Given the description of an element on the screen output the (x, y) to click on. 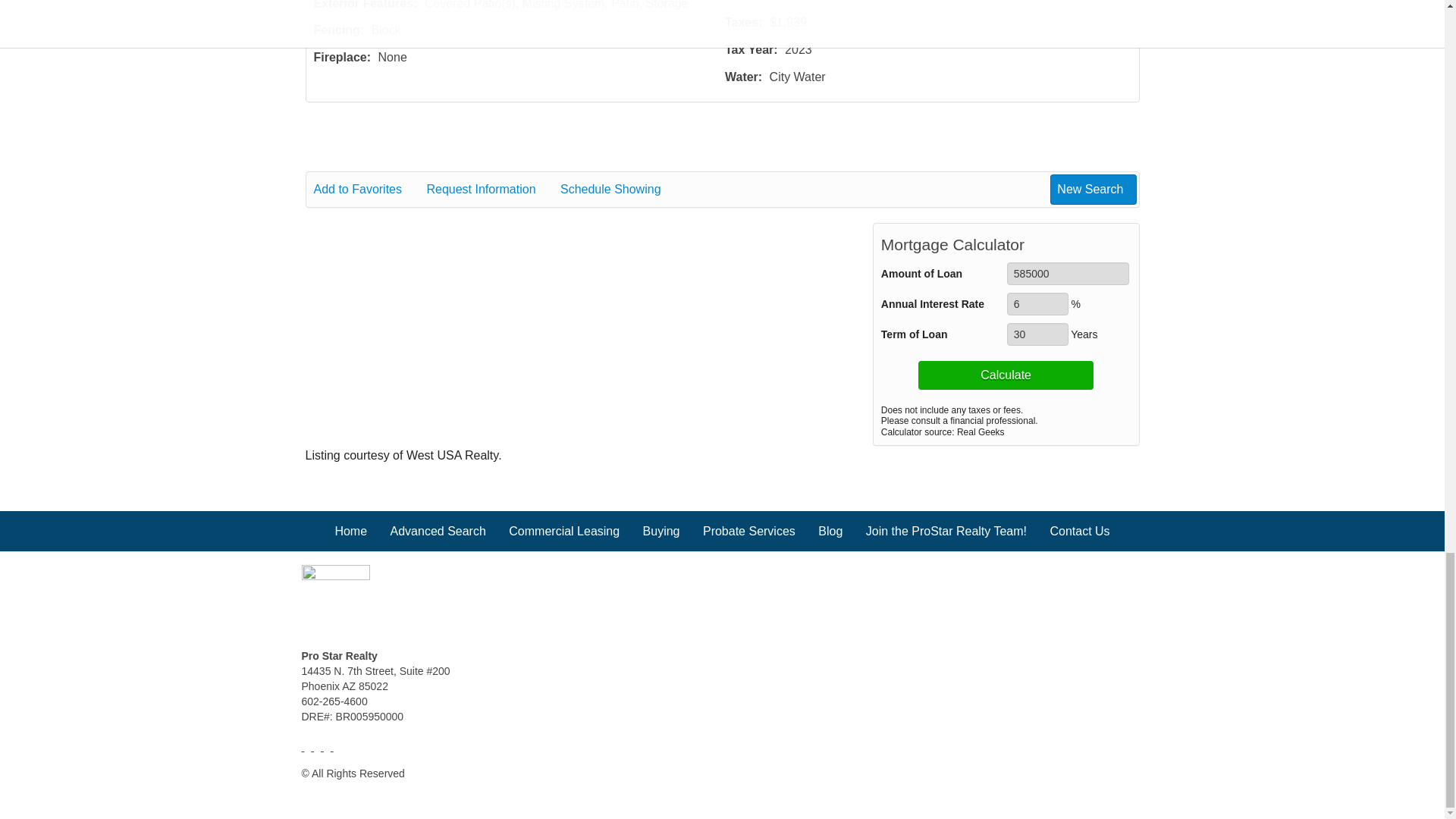
585000 (1068, 273)
30 (1037, 333)
6 (1037, 303)
